Given the description of an element on the screen output the (x, y) to click on. 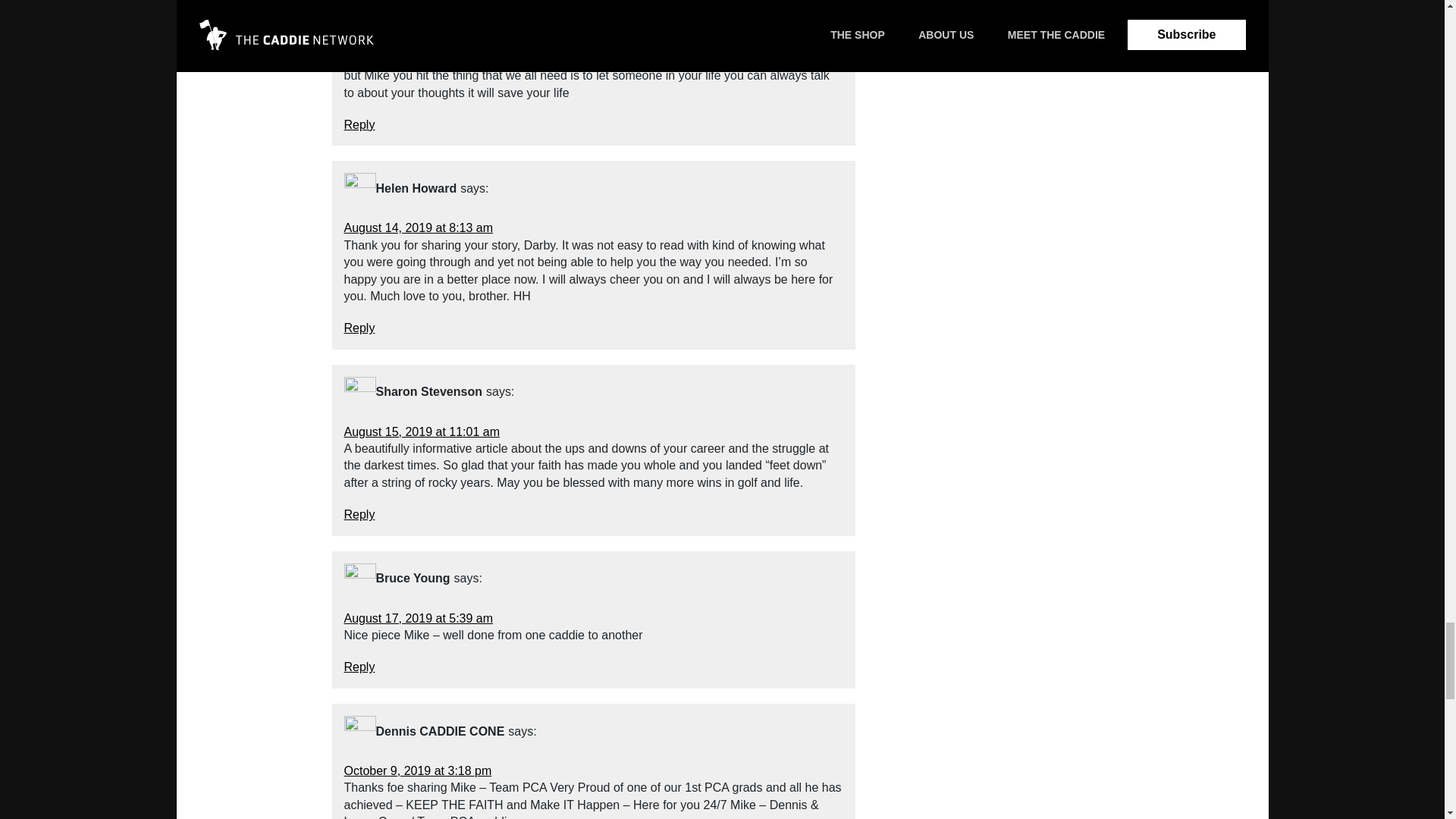
October 9, 2019 at 3:18 pm (417, 770)
Reply (359, 124)
August 14, 2019 at 8:13 am (418, 227)
August 13, 2019 at 7:40 pm (418, 24)
August 15, 2019 at 11:01 am (421, 431)
August 17, 2019 at 5:39 am (418, 617)
Reply (359, 513)
Reply (359, 327)
Reply (359, 666)
